Given the description of an element on the screen output the (x, y) to click on. 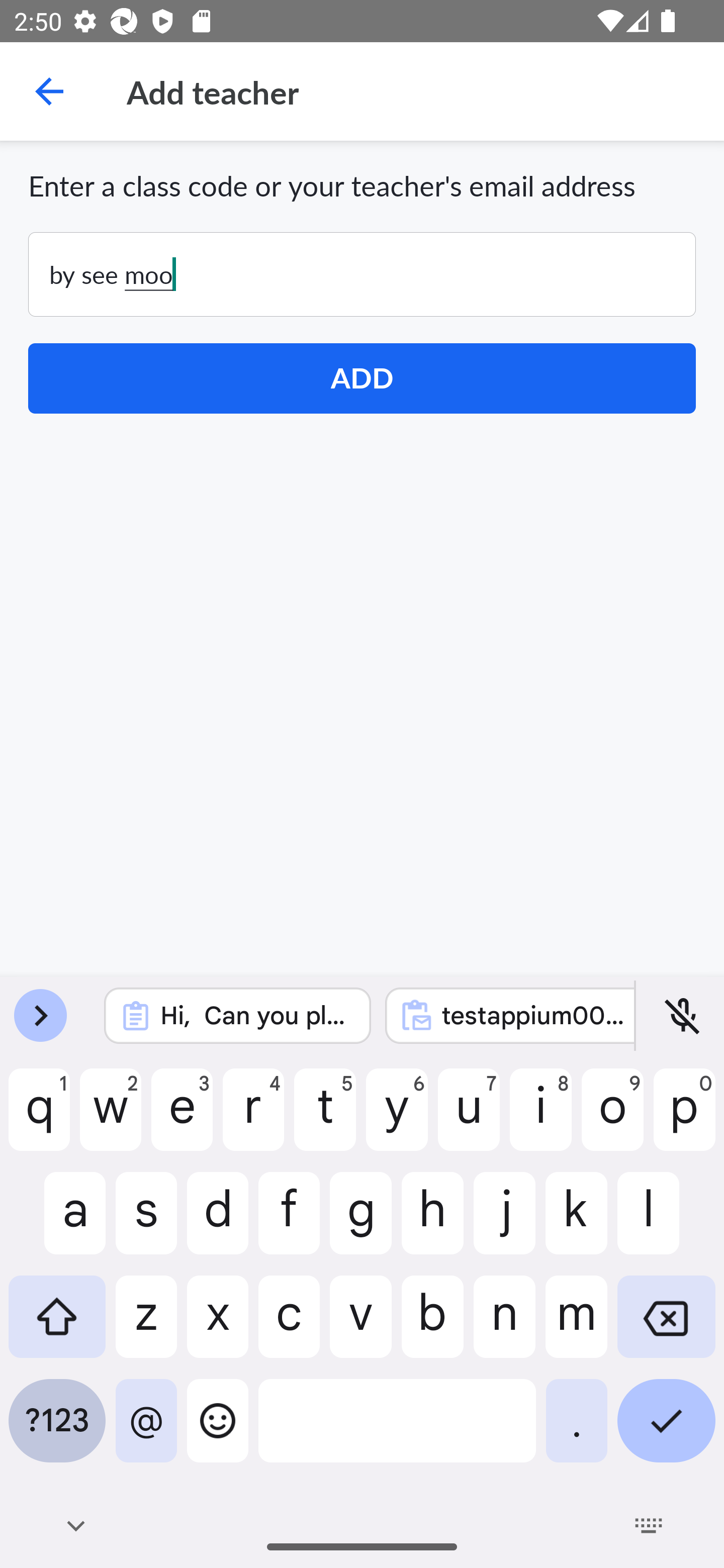
Navigate up (49, 91)
by see moo e.g. ABC123 or teacher@example.com (361, 274)
ADD (361, 378)
